Given the description of an element on the screen output the (x, y) to click on. 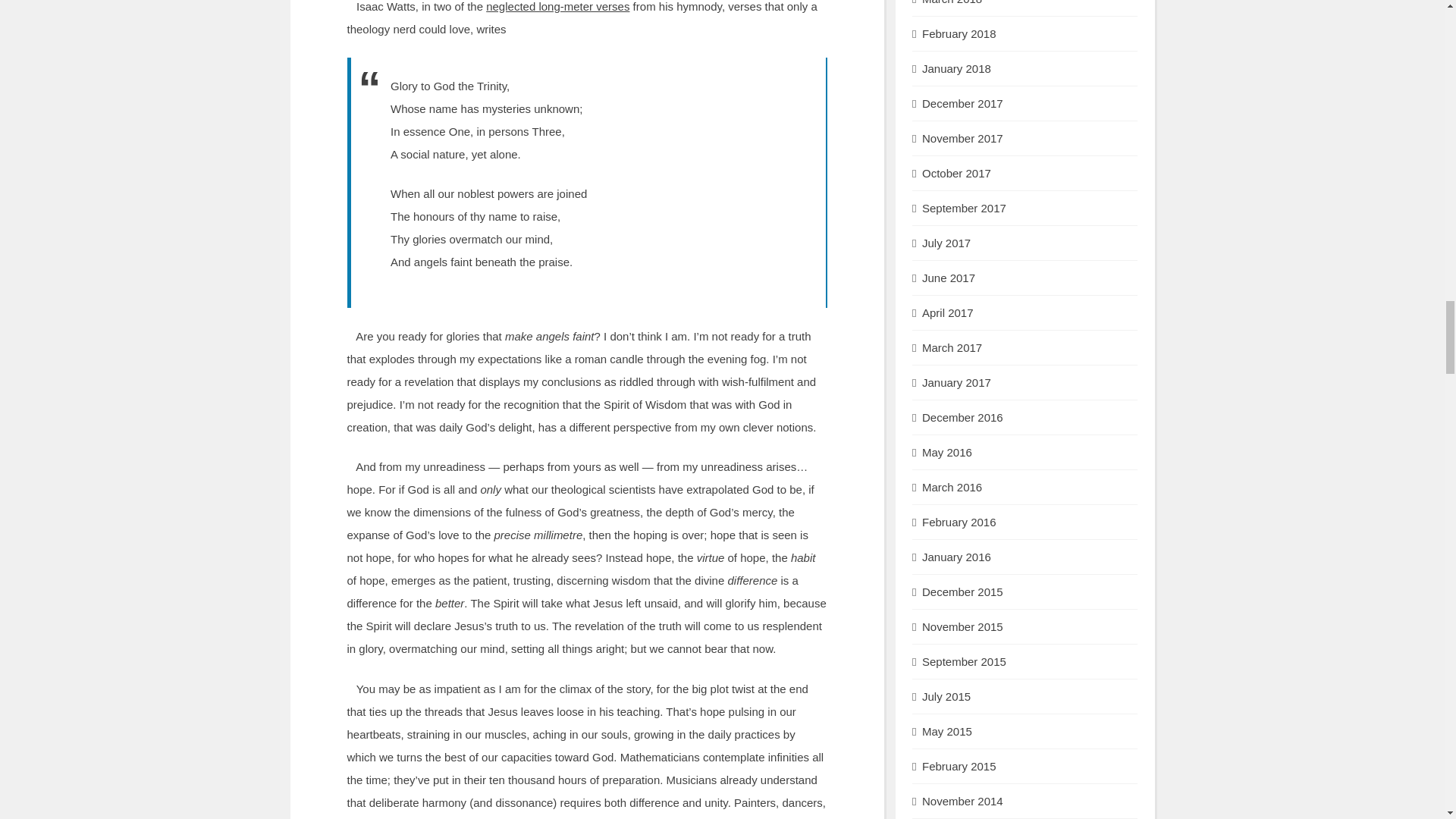
neglected long-meter verses (557, 6)
